Given the description of an element on the screen output the (x, y) to click on. 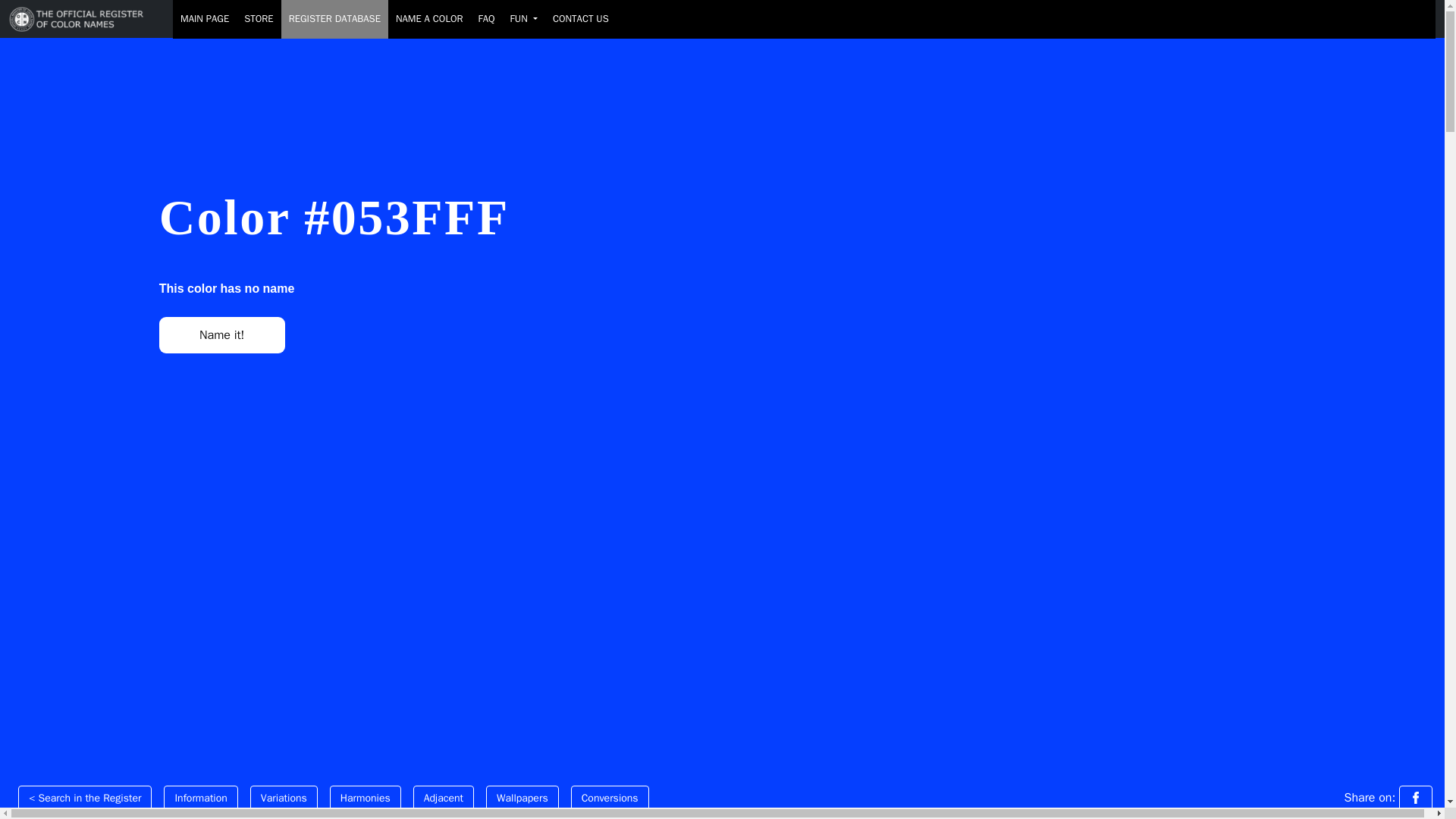
MAIN PAGE (204, 19)
Wallpapers (522, 797)
Adjacent (443, 797)
Variations (283, 797)
Harmonies (365, 797)
Name it! (221, 334)
Conversions (609, 797)
Information (200, 797)
CONTACT US (579, 19)
NAME A COLOR (429, 19)
REGISTER DATABASE (334, 19)
FUN (523, 19)
STORE (258, 19)
FAQ (486, 19)
